Given the description of an element on the screen output the (x, y) to click on. 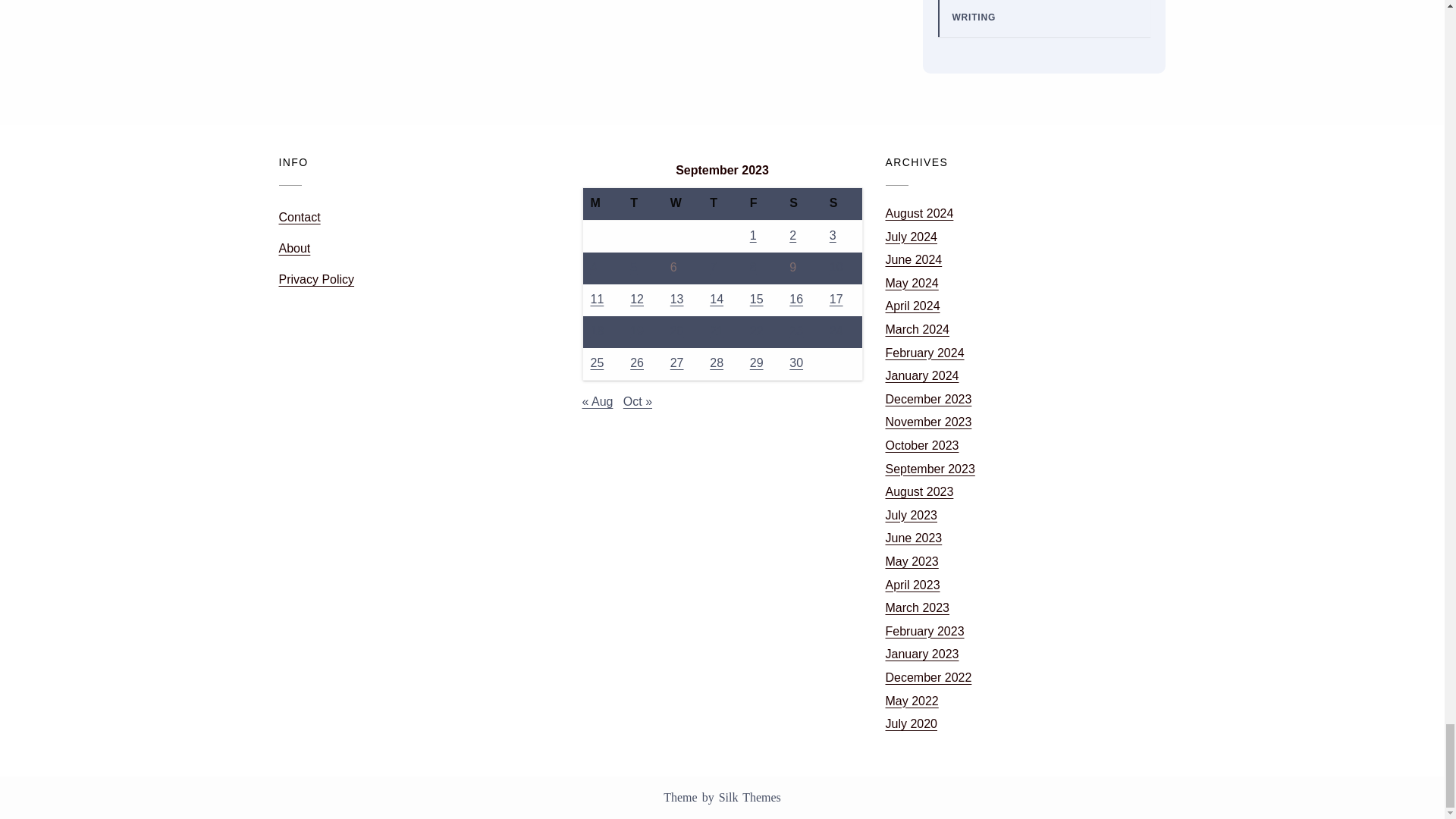
Saturday (801, 204)
Wednesday (682, 204)
Sunday (841, 204)
Thursday (721, 204)
Friday (762, 204)
Monday (602, 204)
Tuesday (642, 204)
